Given the description of an element on the screen output the (x, y) to click on. 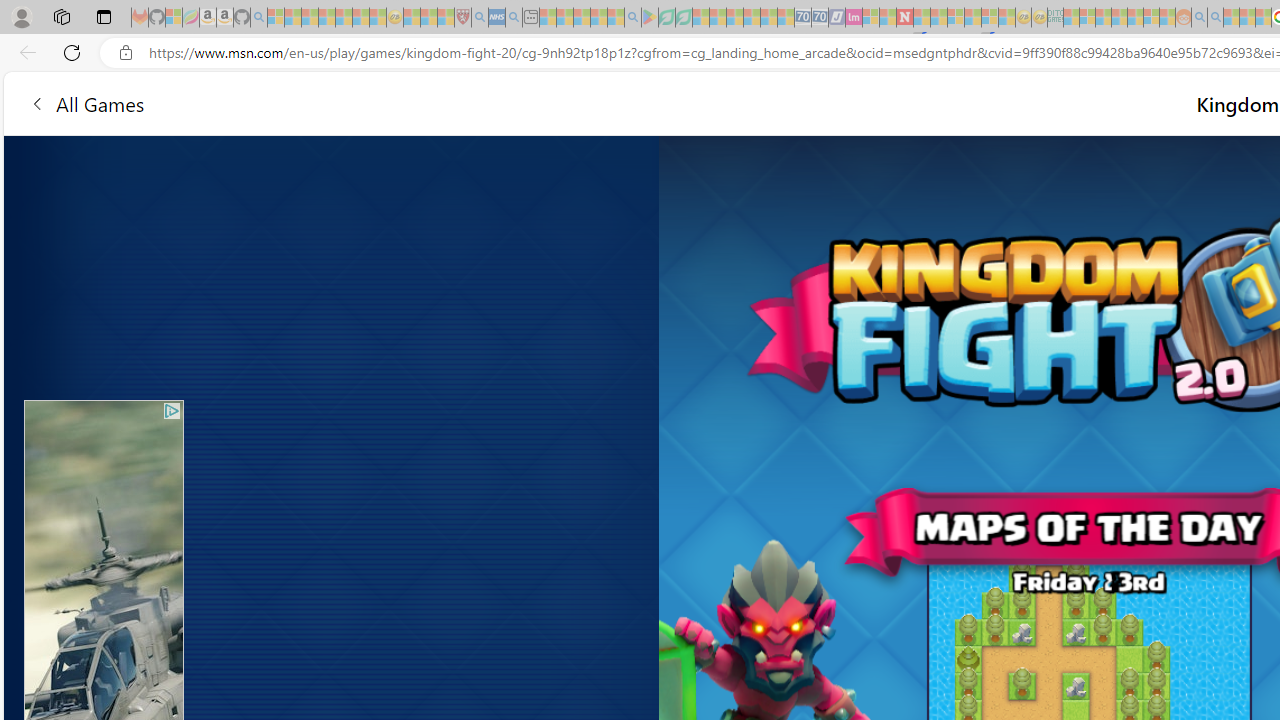
Jobs - lastminute.com Investor Portal - Sleeping (853, 17)
New tab - Sleeping (530, 17)
Recipes - MSN - Sleeping (411, 17)
Microsoft account | Privacy - Sleeping (1087, 17)
Expert Portfolios - Sleeping (1119, 17)
Cheap Car Rentals - Save70.com - Sleeping (802, 17)
Pets - MSN - Sleeping (598, 17)
All Games (86, 102)
